Given the description of an element on the screen output the (x, y) to click on. 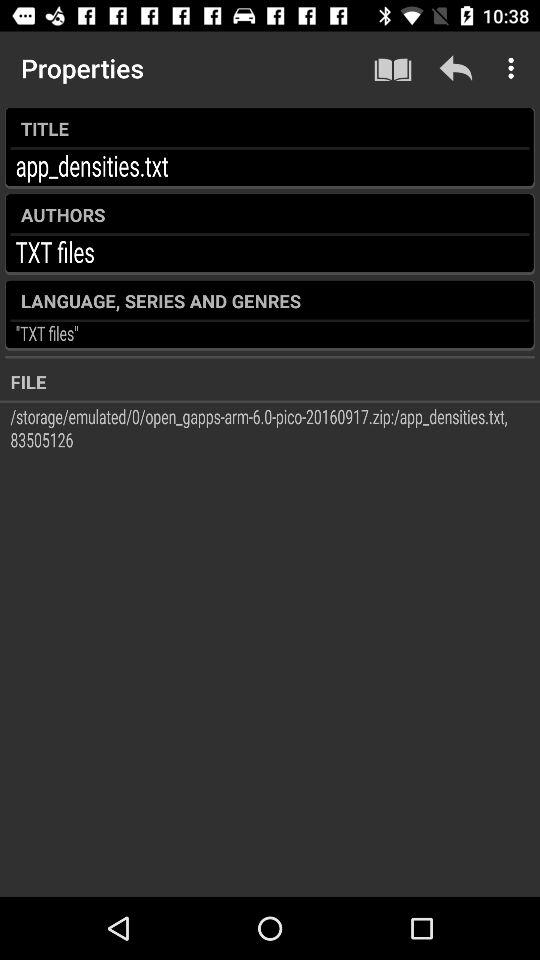
select the item above the title item (392, 67)
